Given the description of an element on the screen output the (x, y) to click on. 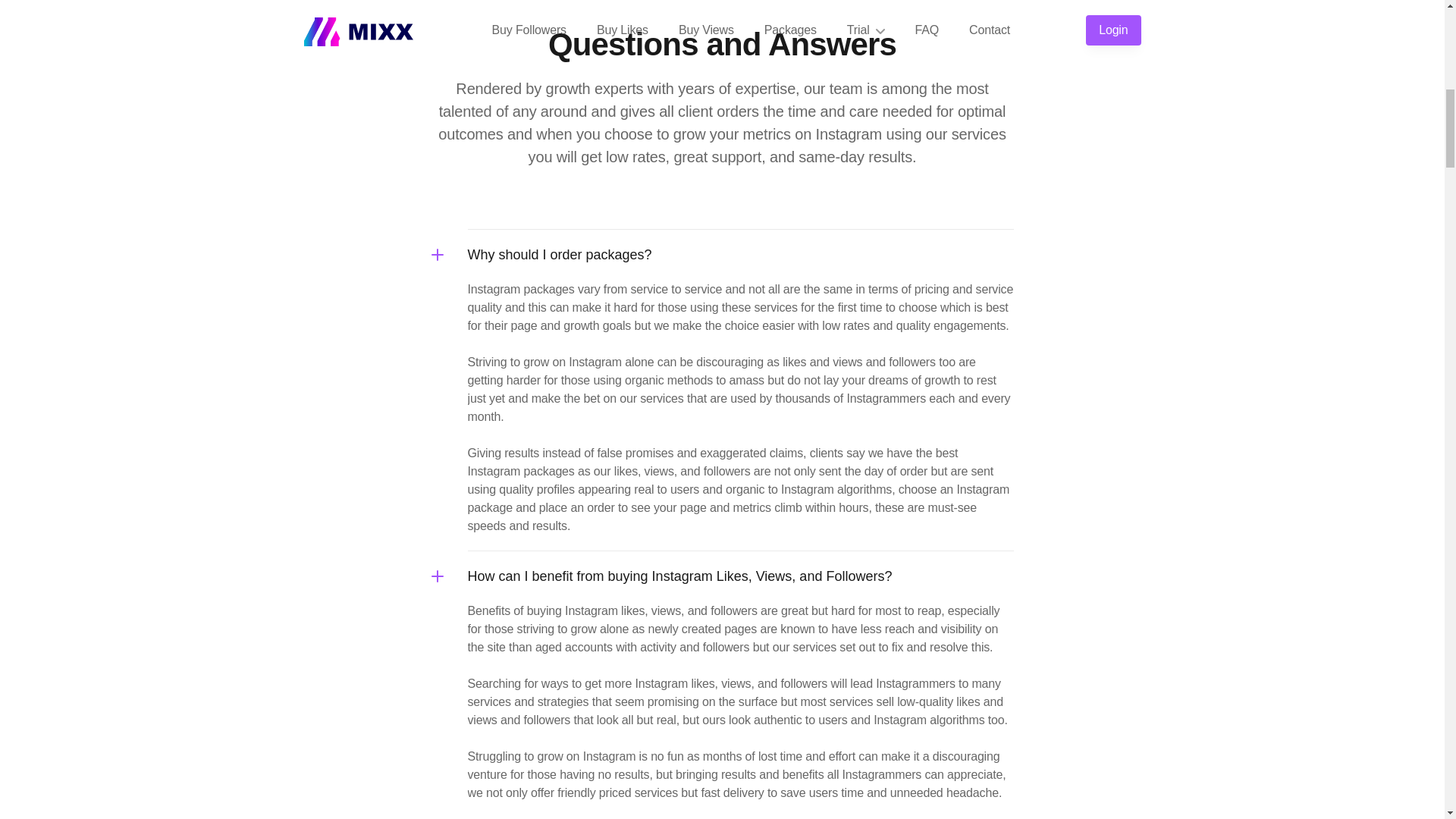
Why should I order packages? (740, 254)
